Given the description of an element on the screen output the (x, y) to click on. 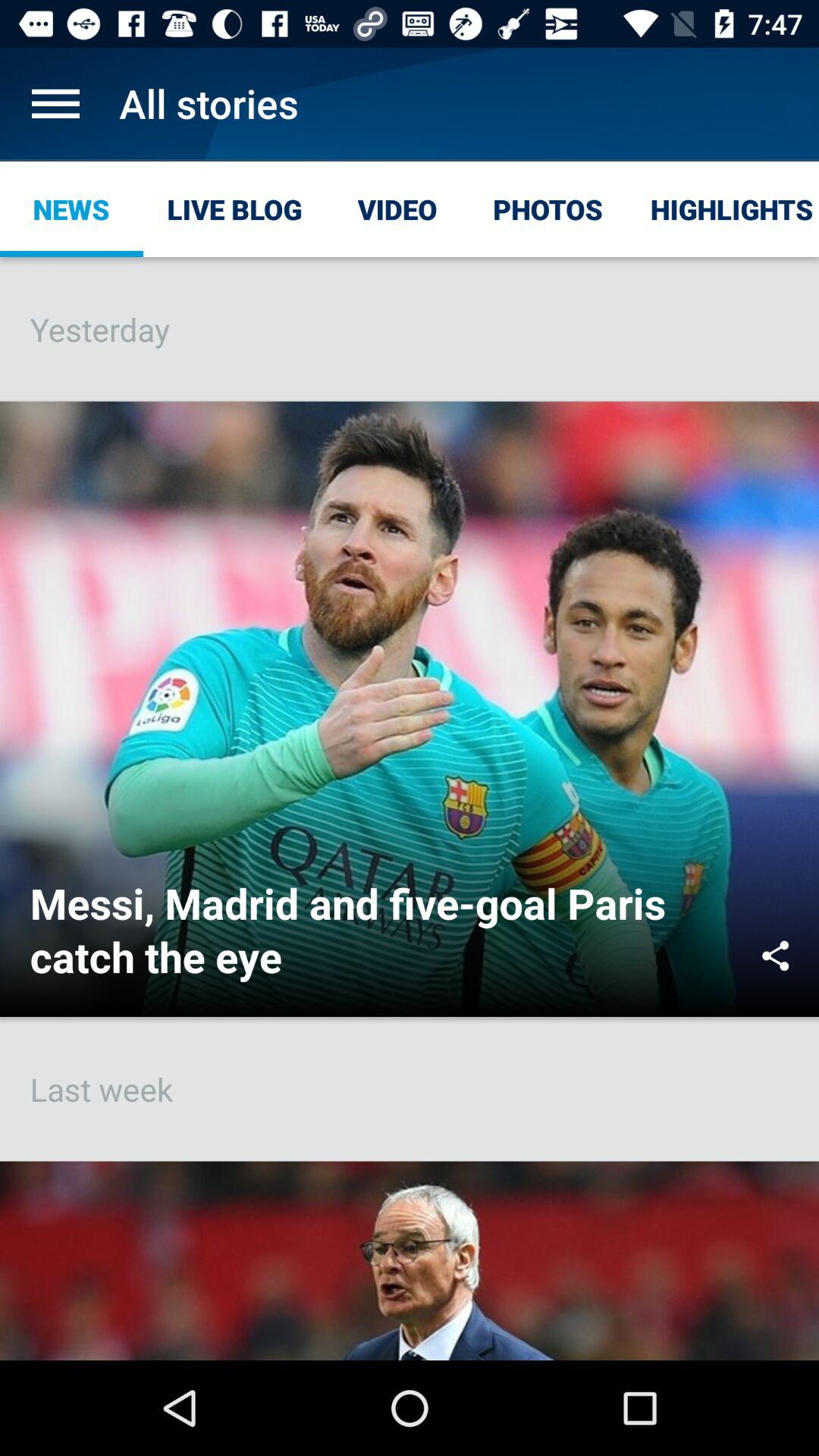
click item below the yesterday icon (775, 955)
